Given the description of an element on the screen output the (x, y) to click on. 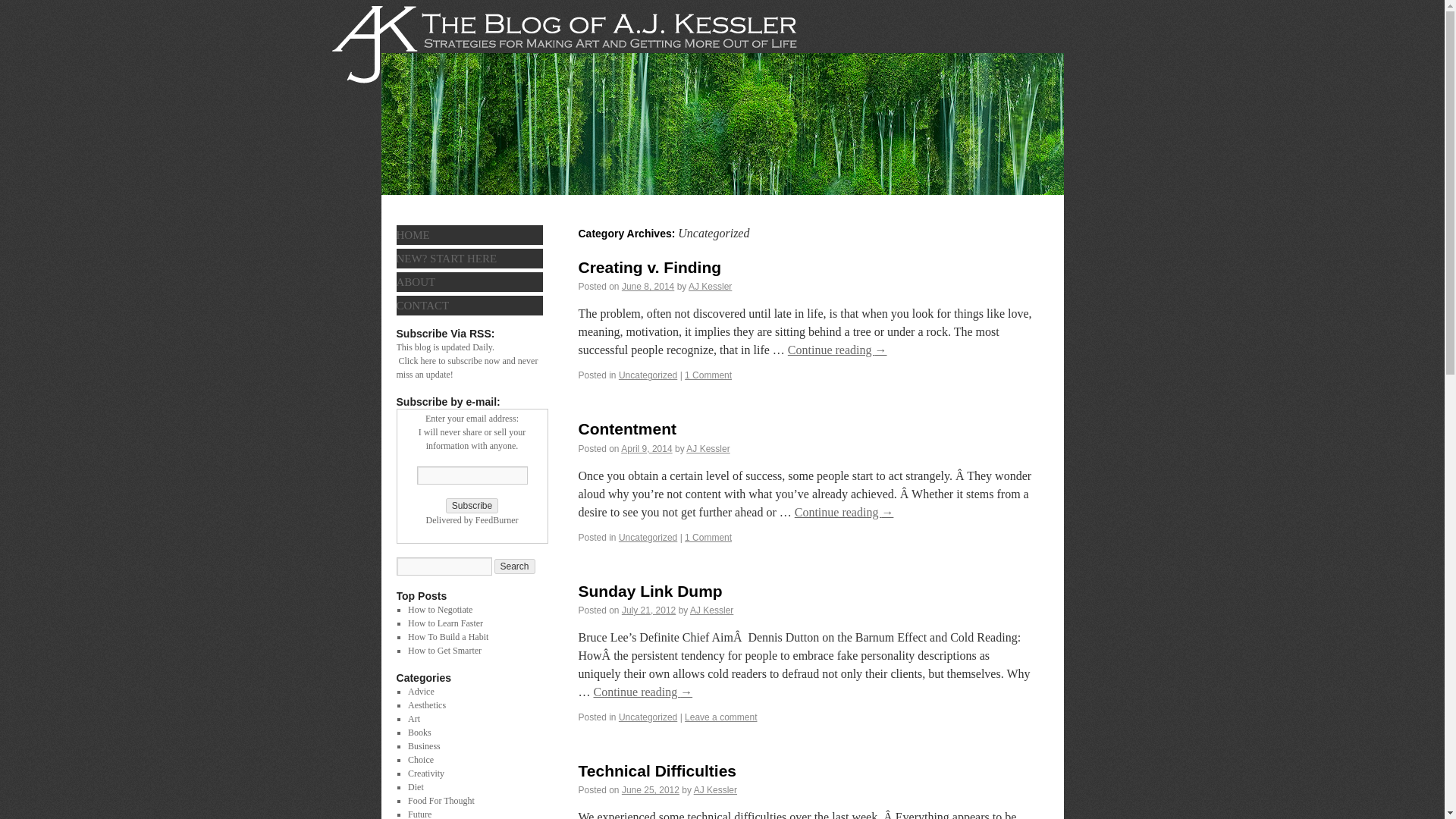
Uncategorized (647, 537)
April 9, 2014 (646, 448)
June 8, 2014 (647, 286)
June 25, 2012 (650, 789)
Creating v. Finding (649, 267)
Permalink to Sunday Link Dump (650, 590)
View all posts by AJ Kessler (711, 610)
Technical Difficulties (657, 770)
11:00 pm (647, 286)
Permalink to Contentment (627, 428)
Uncategorized (647, 375)
1 Comment (708, 375)
Search (515, 566)
10:00 pm (650, 789)
July 21, 2012 (648, 610)
